Given the description of an element on the screen output the (x, y) to click on. 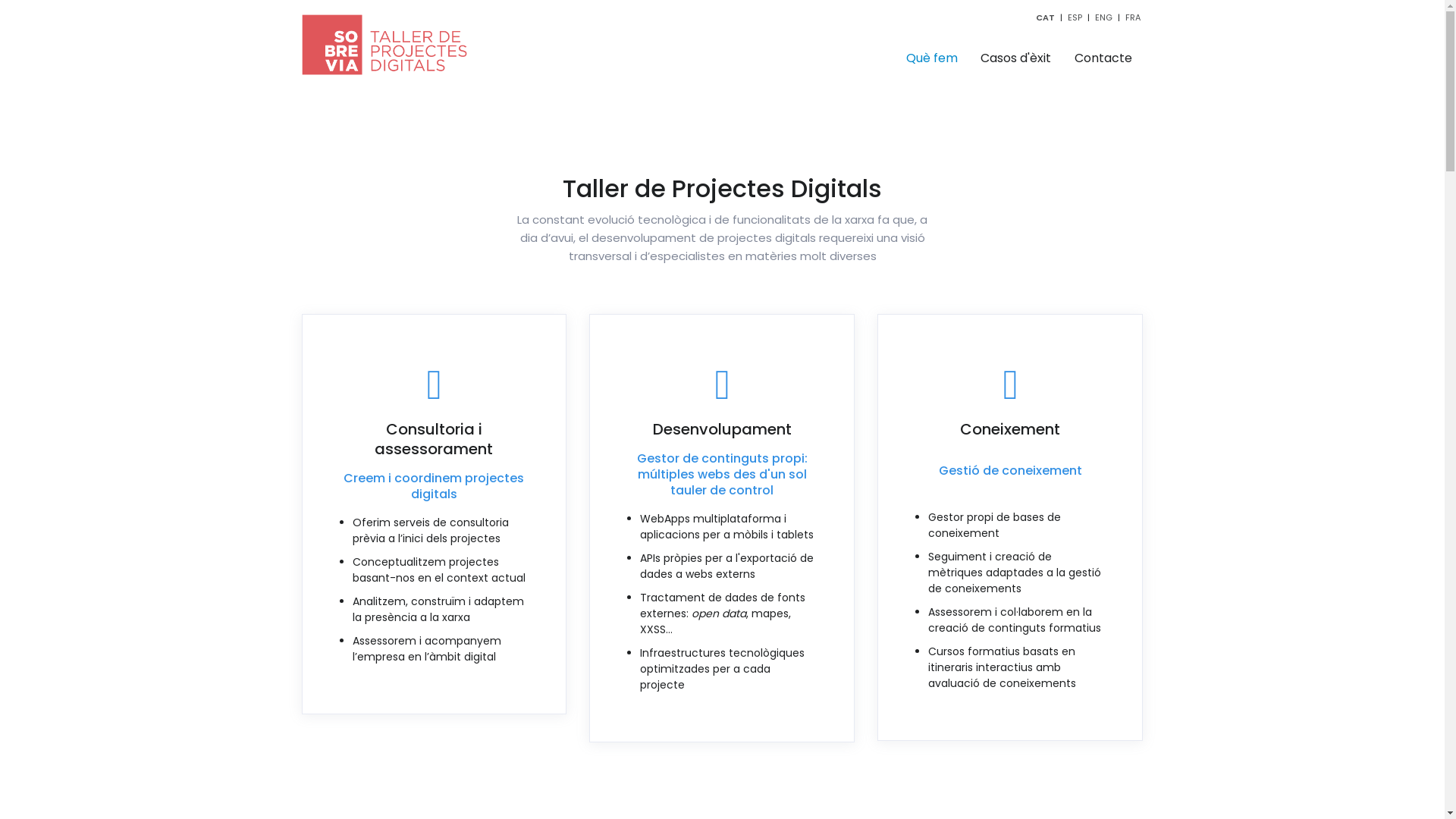
ESP Element type: text (1074, 17)
ENG Element type: text (1103, 17)
CAT Element type: text (1044, 17)
Contacte Element type: text (1103, 57)
FRA Element type: text (1132, 17)
